Given the description of an element on the screen output the (x, y) to click on. 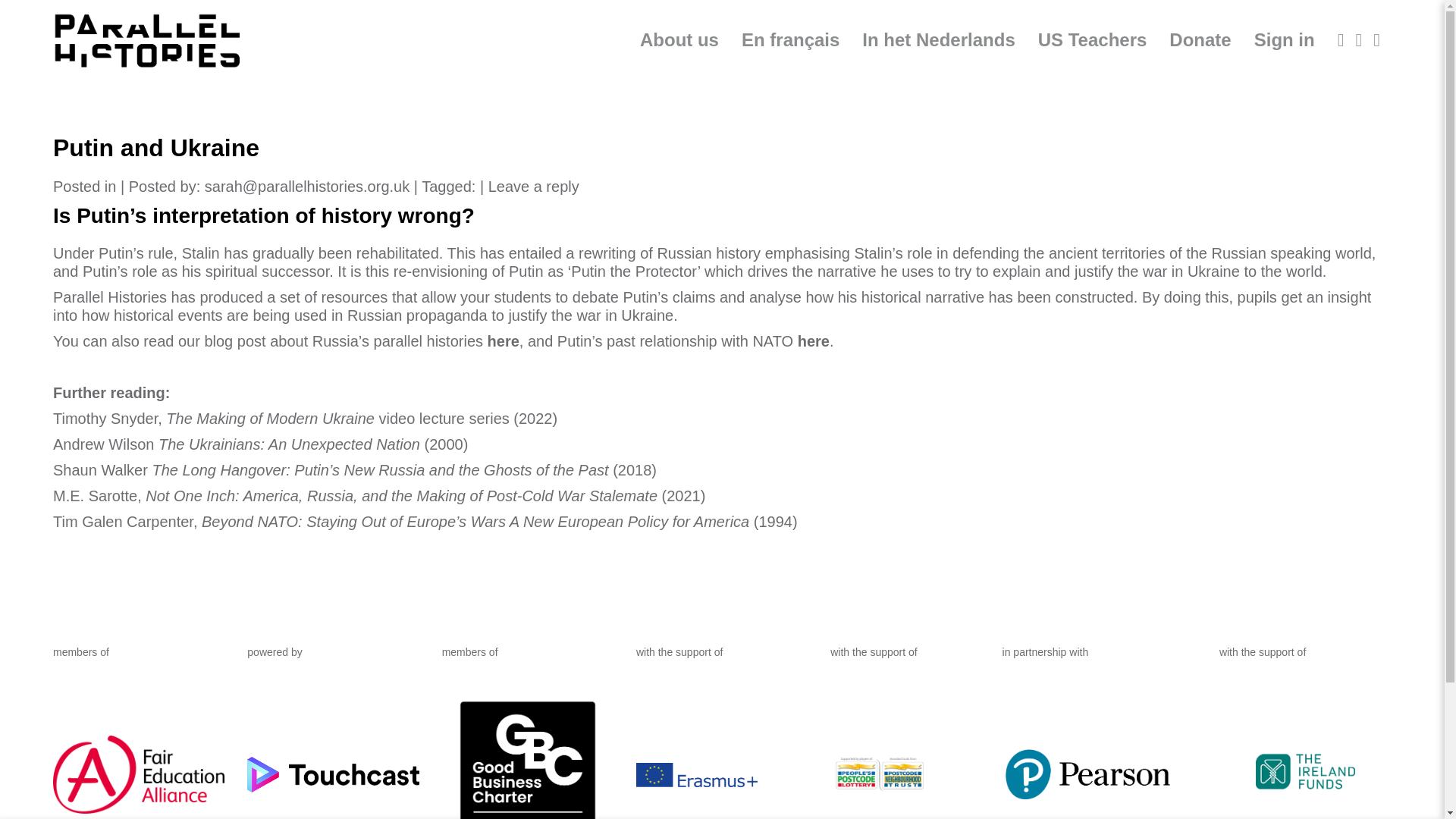
Sign in (1283, 40)
Leave a reply (533, 186)
Donate (1199, 40)
The Making of Modern Ukraine (269, 418)
US Teachers (1092, 40)
here (813, 340)
logo (147, 40)
About us (679, 40)
here (503, 340)
In het Nederlands (937, 40)
